Given the description of an element on the screen output the (x, y) to click on. 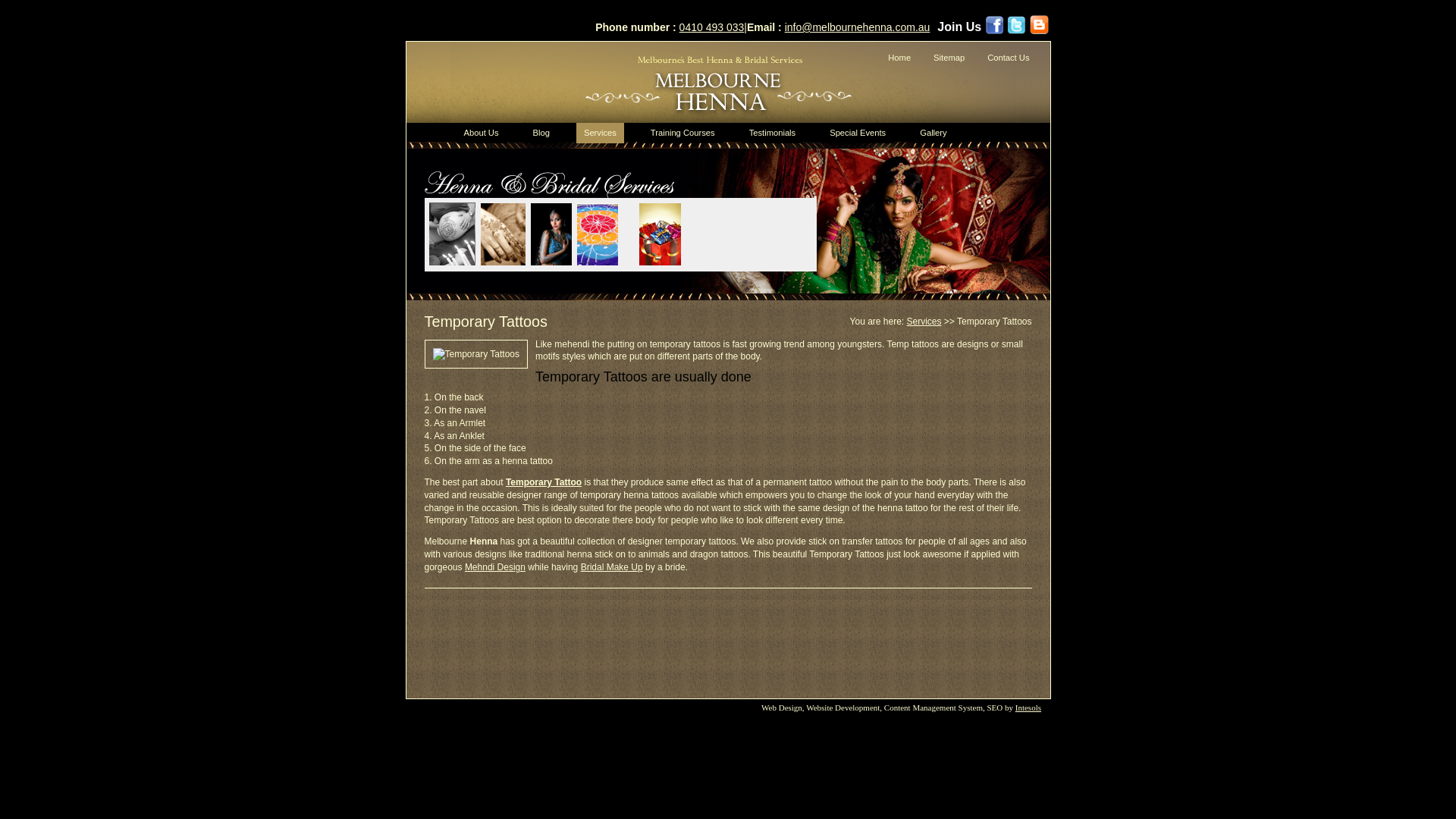
0410 493 033 Element type: text (711, 27)
facebook Element type: hover (994, 24)
Services Element type: text (923, 321)
Testimonials Element type: text (772, 132)
Intesols Element type: text (1028, 707)
Special Events Element type: text (857, 132)
Training Courses Element type: text (682, 132)
Gallery Element type: text (932, 132)
Services Element type: text (600, 132)
Sitemap Element type: text (946, 57)
Mehndi Design Element type: text (494, 566)
Bridal Make Up Element type: text (611, 566)
Temporary Tattoos Element type: hover (476, 354)
About Us Element type: text (481, 132)
Home Element type: text (897, 57)
Blog Element type: text (541, 132)
blog Element type: hover (1038, 24)
twitter Element type: hover (1016, 24)
info@melbournehenna.com.au Element type: text (857, 27)
Contact Us Element type: text (1005, 57)
